Given the description of an element on the screen output the (x, y) to click on. 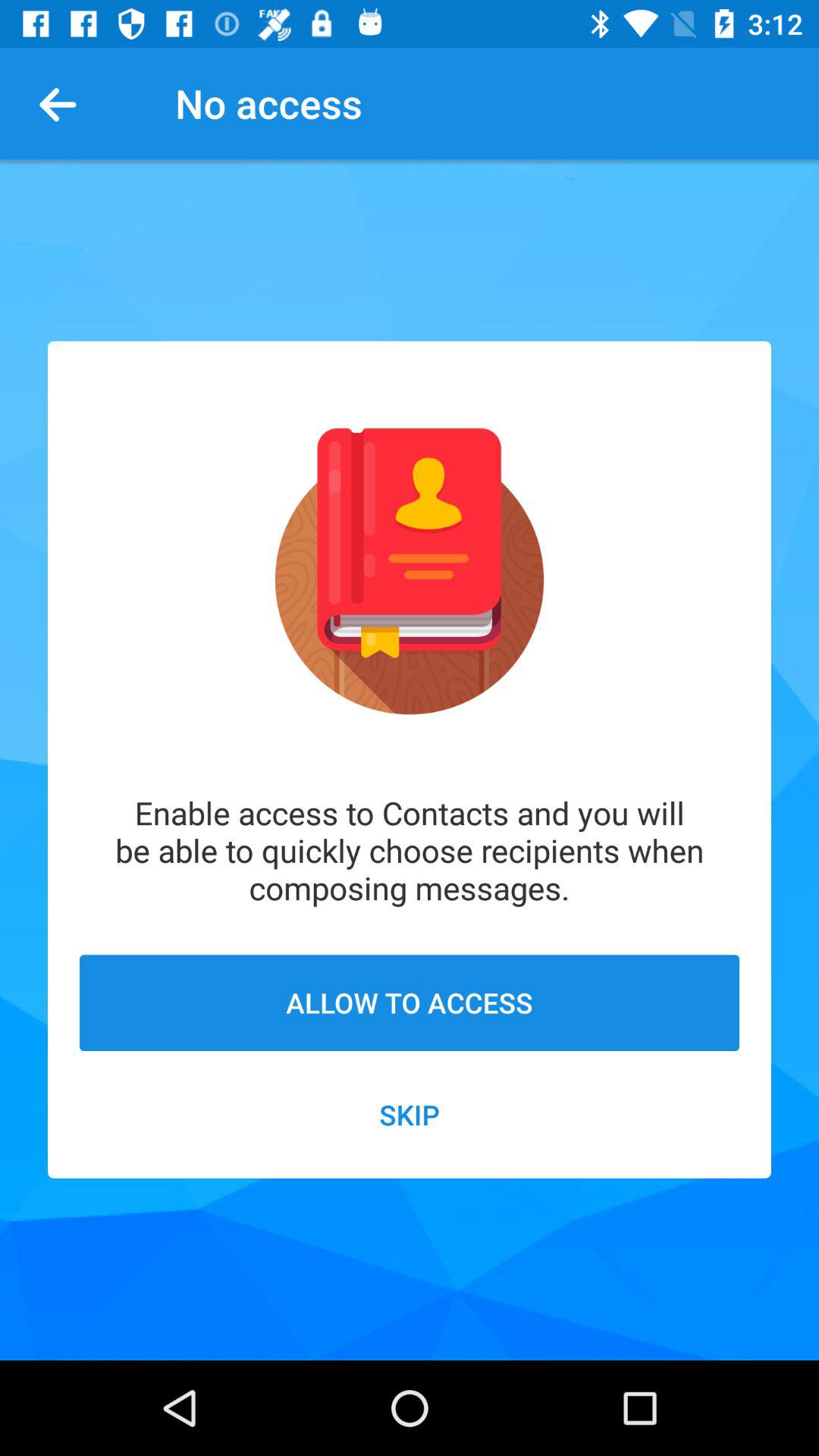
press the icon below allow to access item (409, 1114)
